Given the description of an element on the screen output the (x, y) to click on. 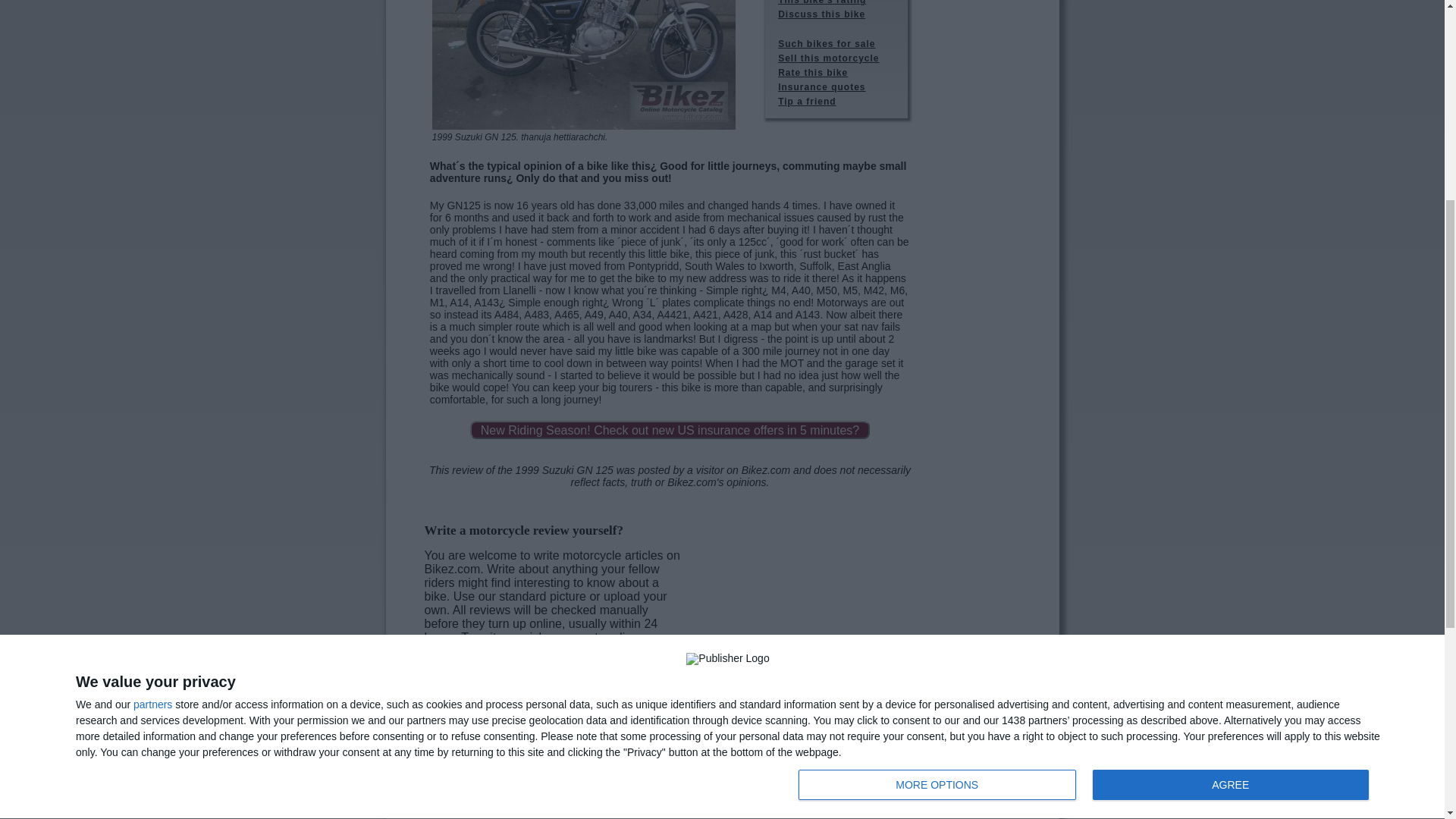
1999 Suzuki GN 125 (1086, 423)
AGREE (583, 64)
partners (1230, 422)
MORE OPTIONS (152, 341)
